Given the description of an element on the screen output the (x, y) to click on. 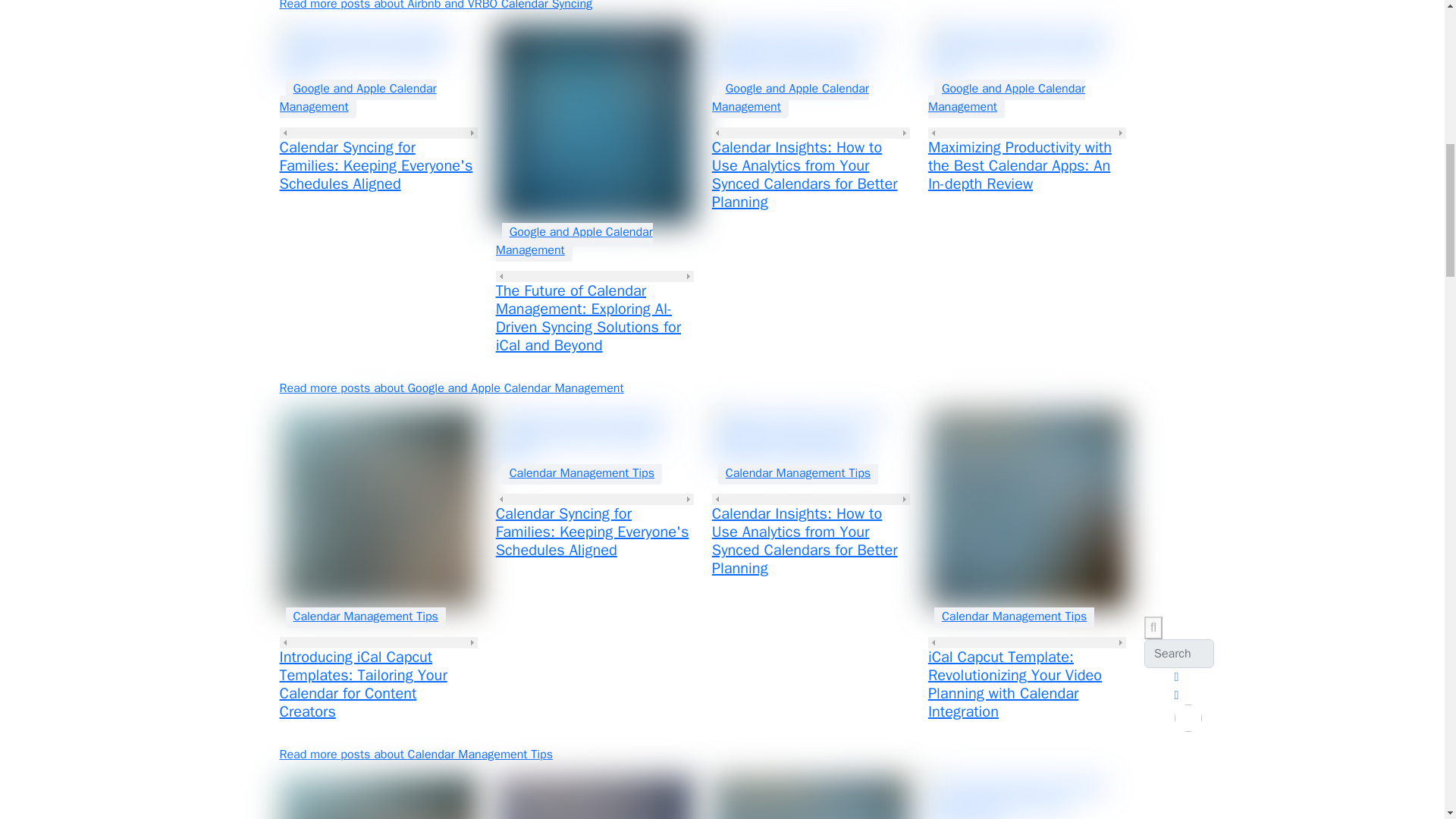
Google and Apple Calendar Management (574, 240)
Read more posts about Airbnb and VRBO Calendar Syncing (435, 5)
Google and Apple Calendar Management (357, 96)
